Given the description of an element on the screen output the (x, y) to click on. 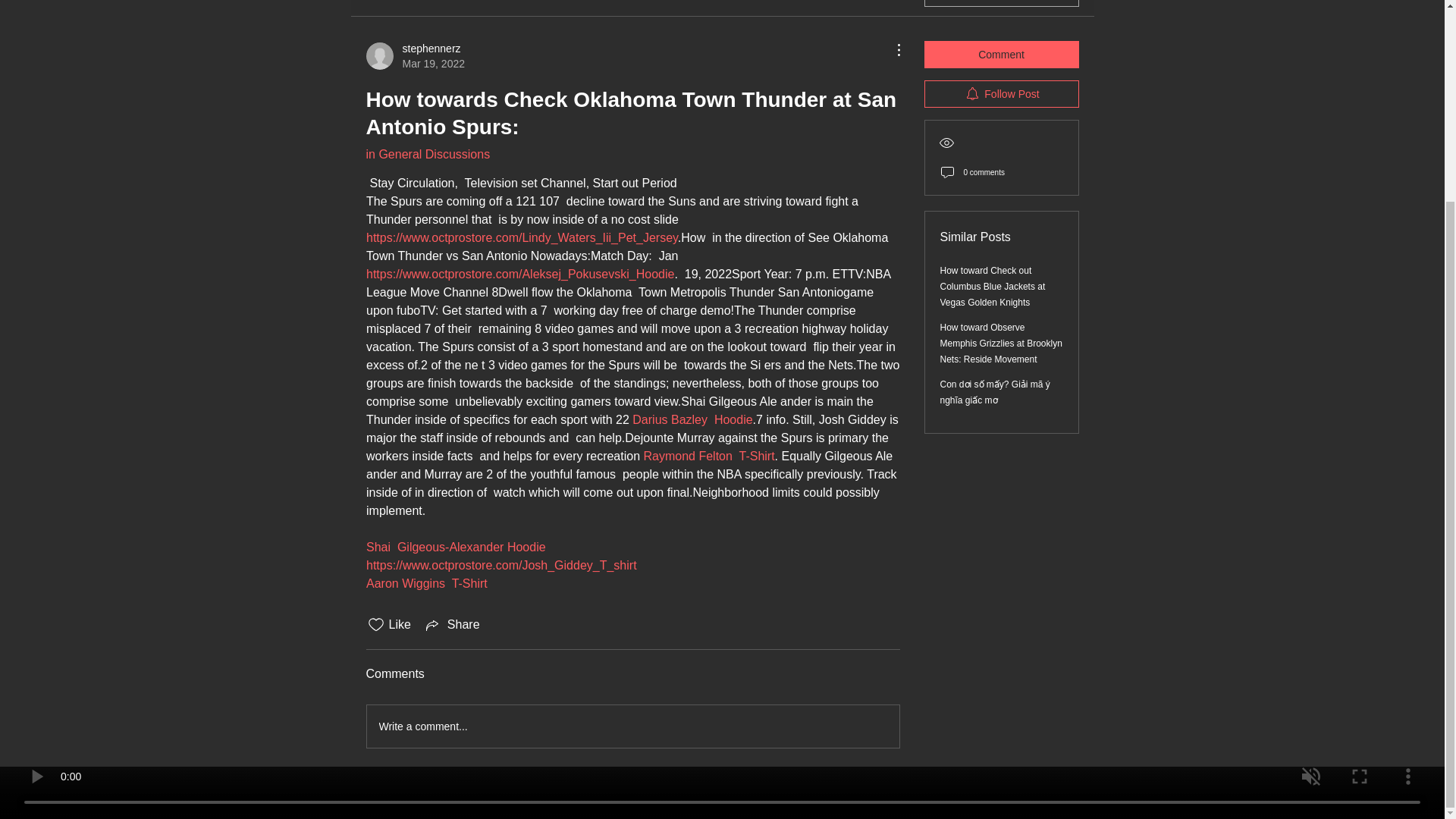
All Posts (465, 1)
Share (451, 624)
Follow Post (1000, 93)
My Posts (532, 1)
in General Discussions (427, 154)
Aaron Wiggins  T-Shirt (414, 55)
Darius Bazley  Hoodie (425, 583)
